Given the description of an element on the screen output the (x, y) to click on. 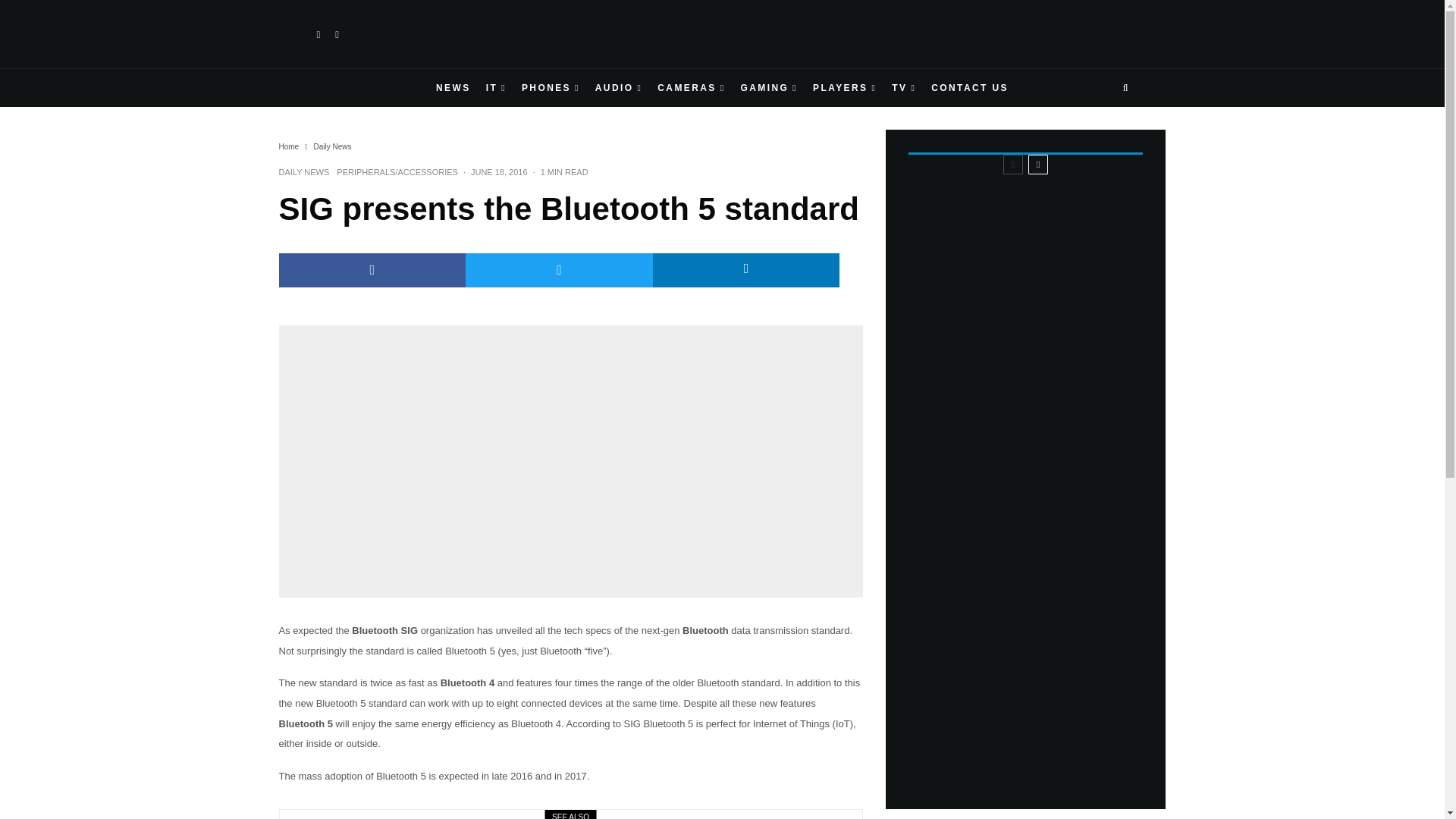
PHONES (550, 87)
IT (496, 87)
NEWS (453, 87)
